Given the description of an element on the screen output the (x, y) to click on. 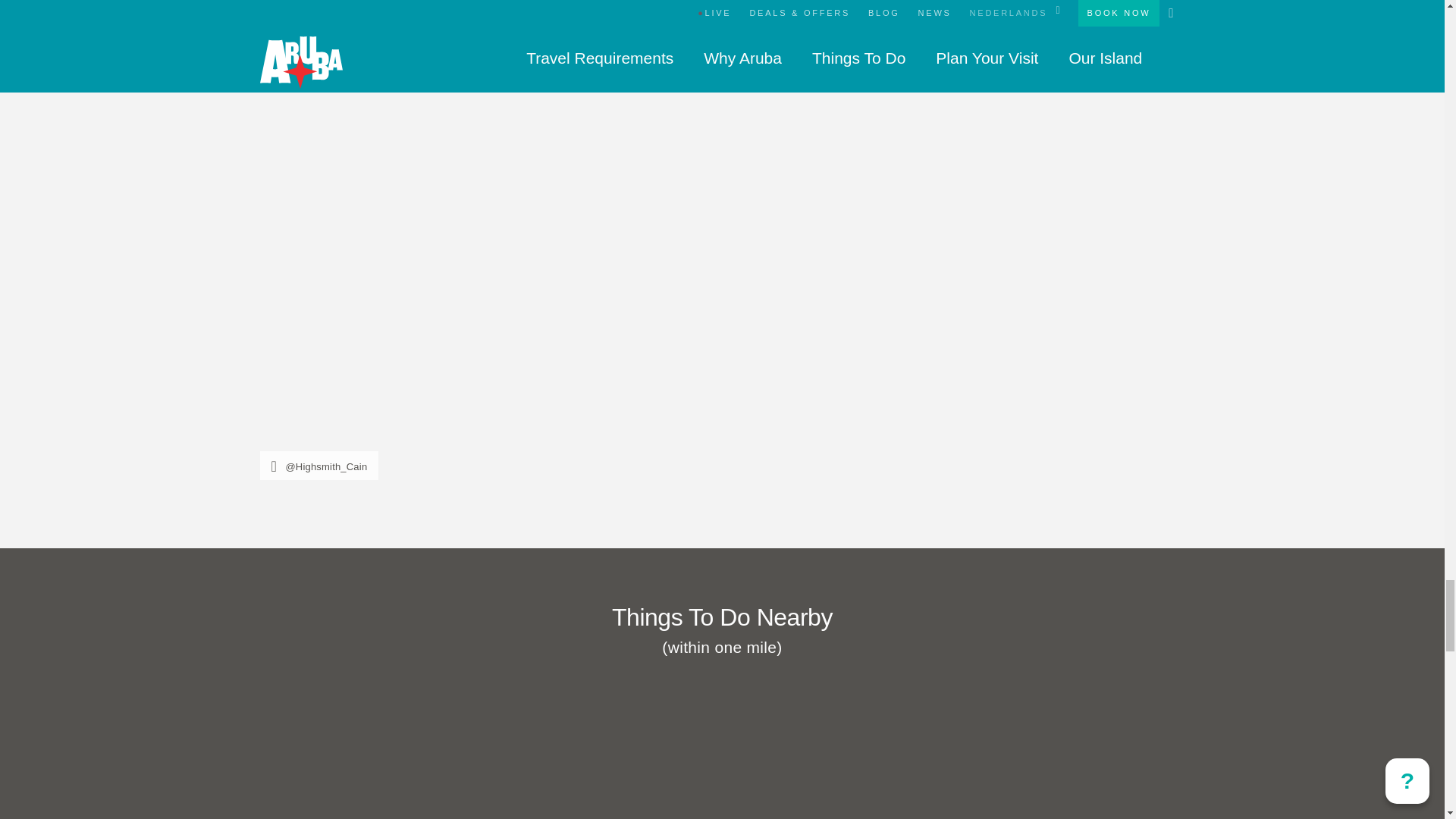
Atardi Restaurant (478, 20)
Eforea Spa (991, 760)
Barbulet Concierge (722, 760)
Happy Divers Aruba (452, 760)
